Given the description of an element on the screen output the (x, y) to click on. 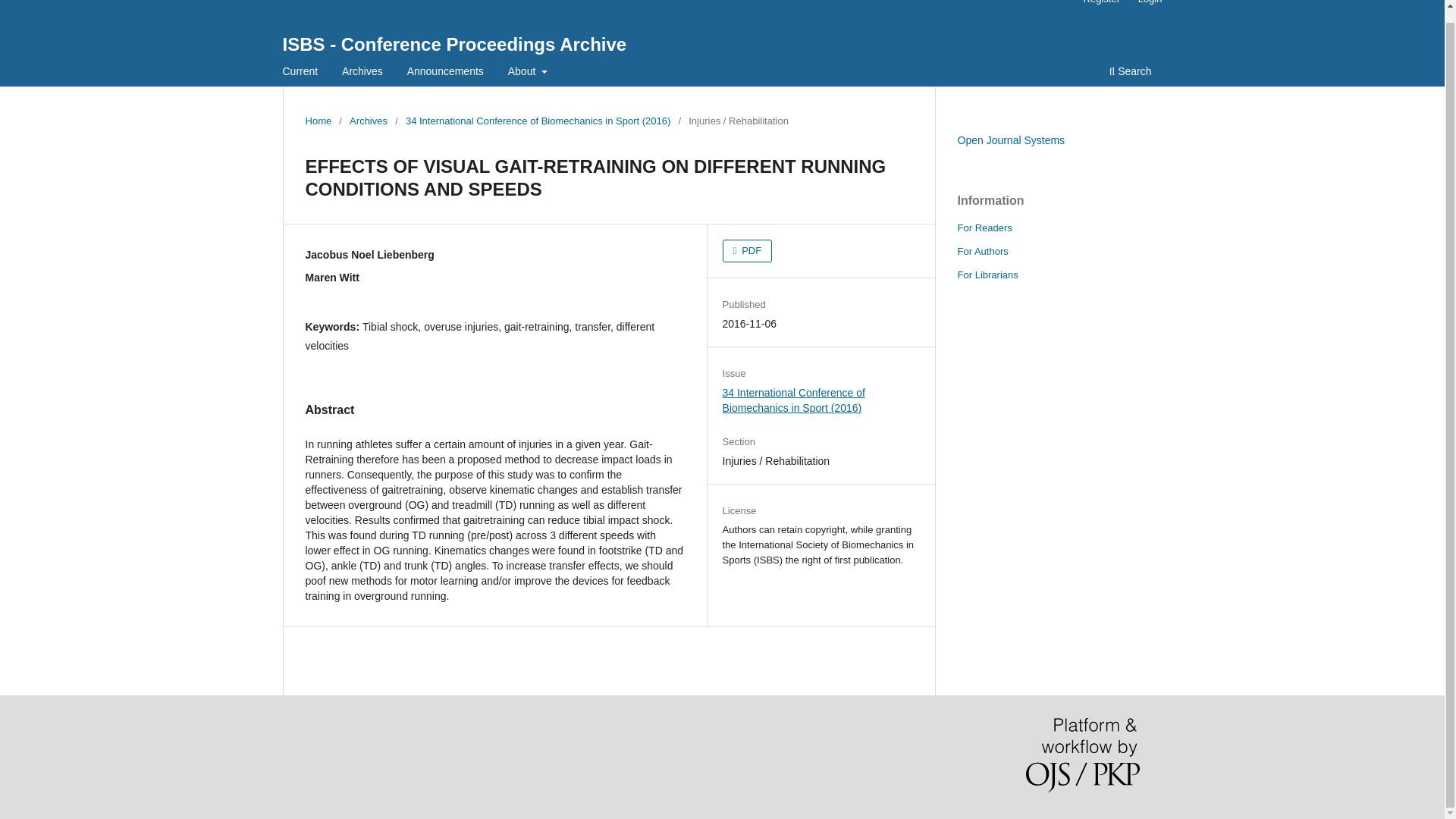
Home (317, 120)
Archives (368, 120)
Open Journal Systems (1010, 140)
Announcements (445, 72)
Search (1129, 72)
For Readers (983, 227)
About (527, 72)
For Authors (981, 251)
Login (1150, 5)
Archives (362, 72)
